Given the description of an element on the screen output the (x, y) to click on. 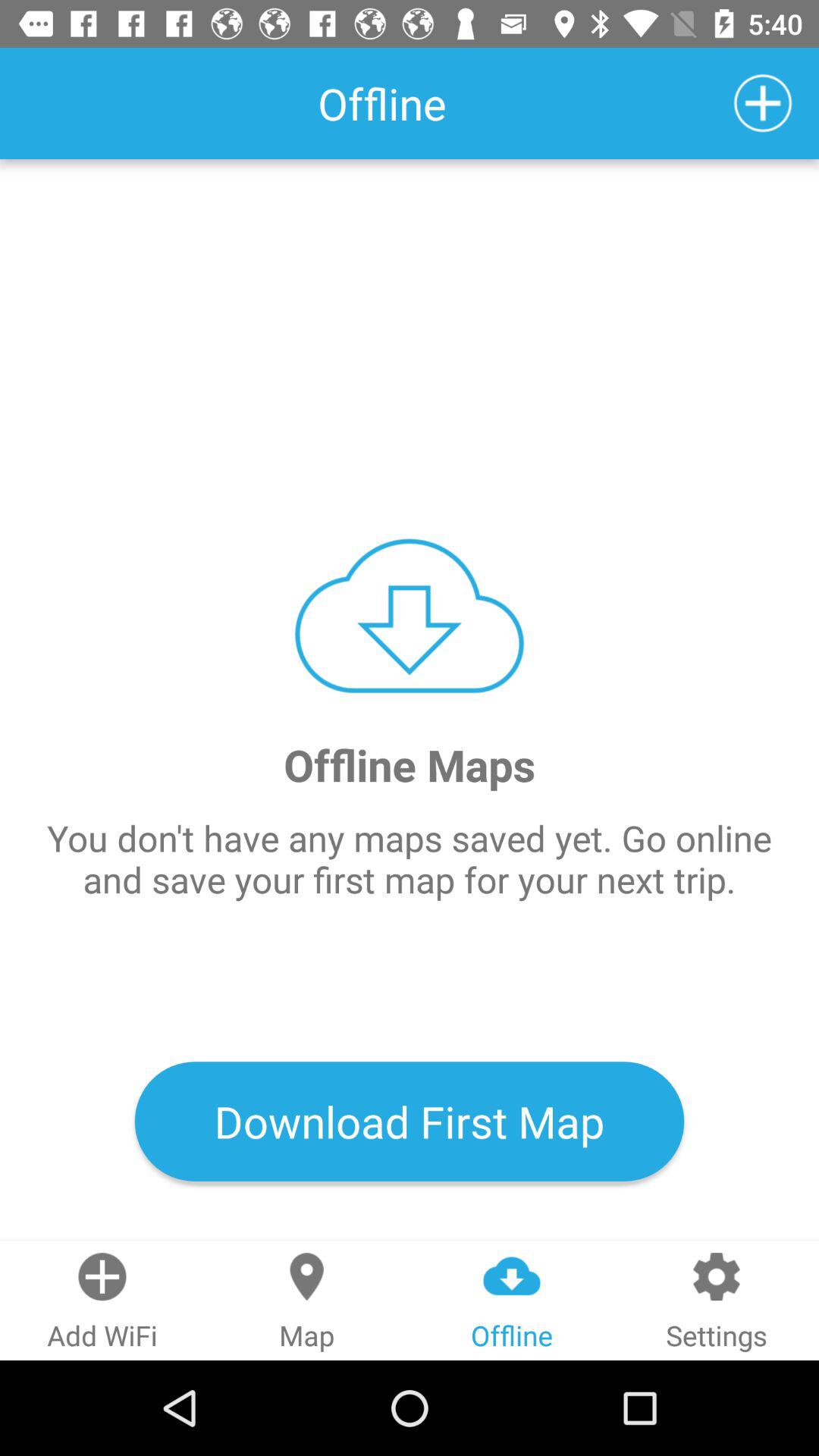
add content (762, 103)
